Given the description of an element on the screen output the (x, y) to click on. 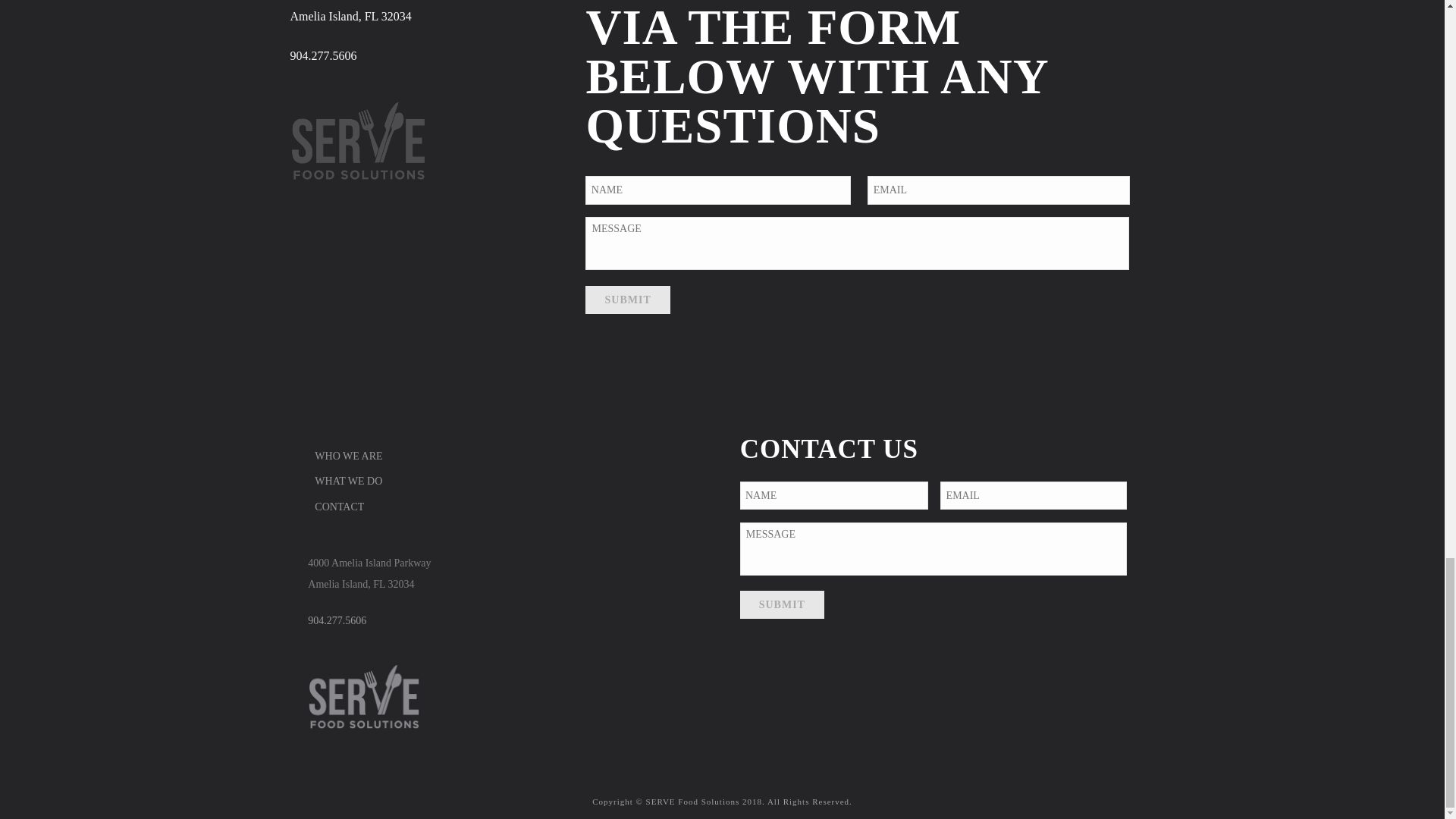
904.277.5606 (322, 55)
CONTACT (343, 506)
Submit (627, 299)
white-logo (357, 140)
Submit (781, 604)
904.277.5606 (336, 620)
WHAT WE DO (352, 480)
Submit (781, 604)
Submit (627, 299)
WHO WE ARE (352, 455)
